Given the description of an element on the screen output the (x, y) to click on. 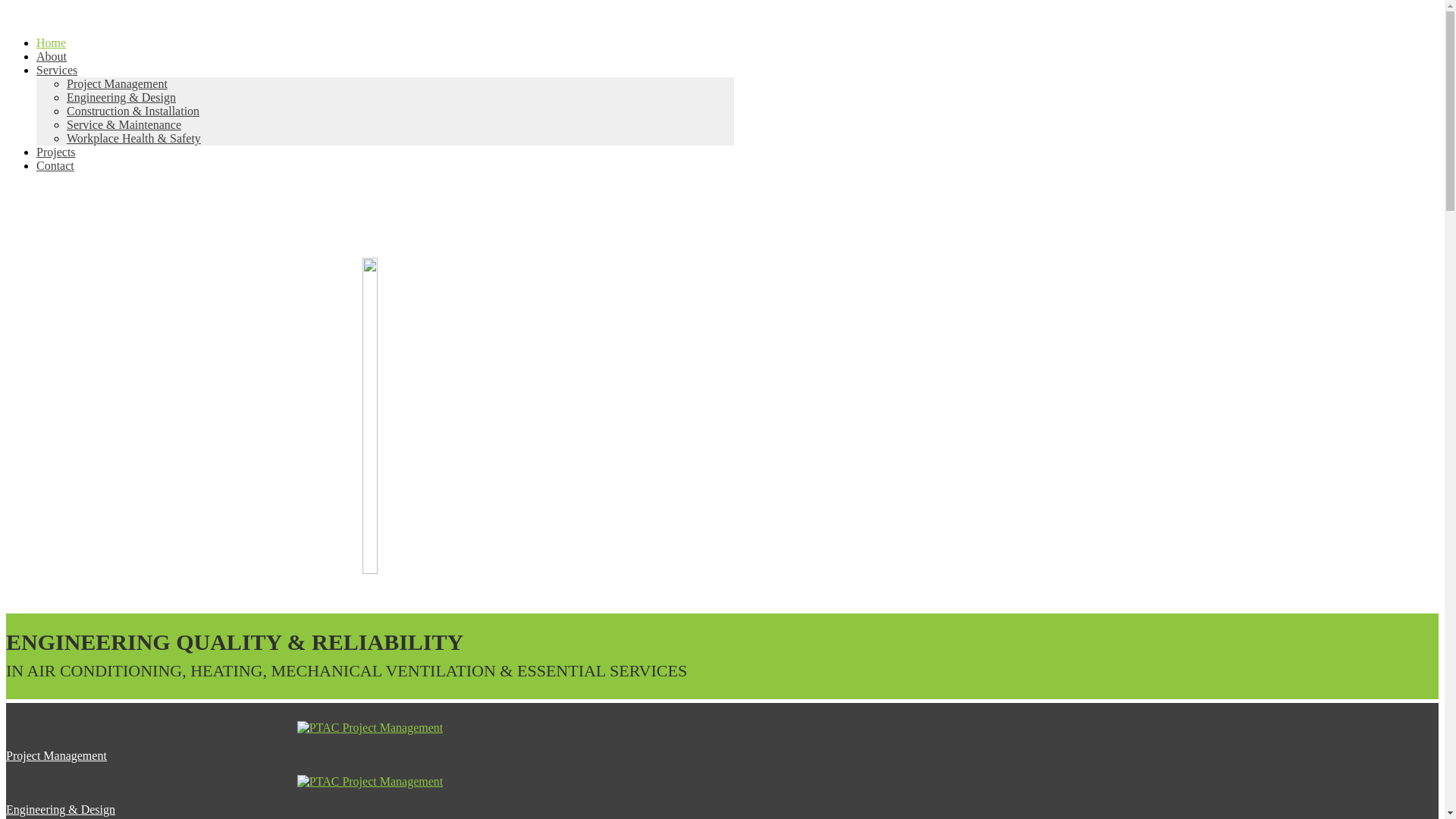
Contact Element type: text (55, 165)
Project Management Element type: text (116, 83)
About Element type: text (51, 56)
gvm-logo Element type: hover (369, 415)
Engineering & Design Element type: text (120, 97)
Workplace Health & Safety Element type: text (133, 137)
Projects Element type: text (55, 151)
Construction & Installation Element type: text (132, 110)
Project Management Element type: text (56, 755)
Service & Maintenance Element type: text (123, 124)
Services Element type: text (56, 69)
Engineering & Design Element type: text (60, 809)
Home Element type: text (50, 42)
